Given the description of an element on the screen output the (x, y) to click on. 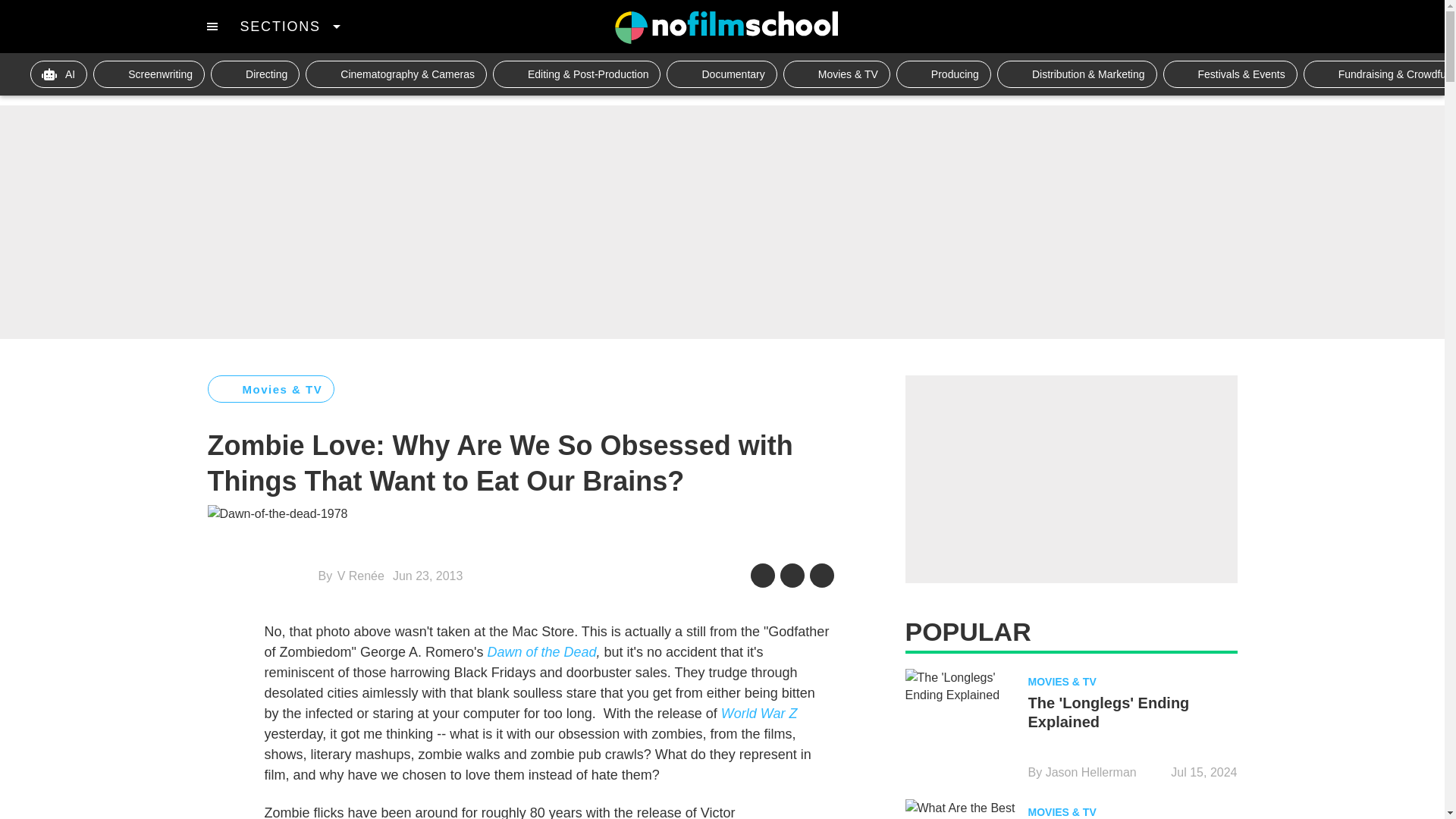
Directing (255, 73)
Producing (943, 73)
Screenwriting (149, 73)
NO FILM SCHOOL (725, 27)
SECTIONS (289, 26)
AI (58, 73)
NO FILM SCHOOL (725, 27)
Documentary (721, 73)
